Given the description of an element on the screen output the (x, y) to click on. 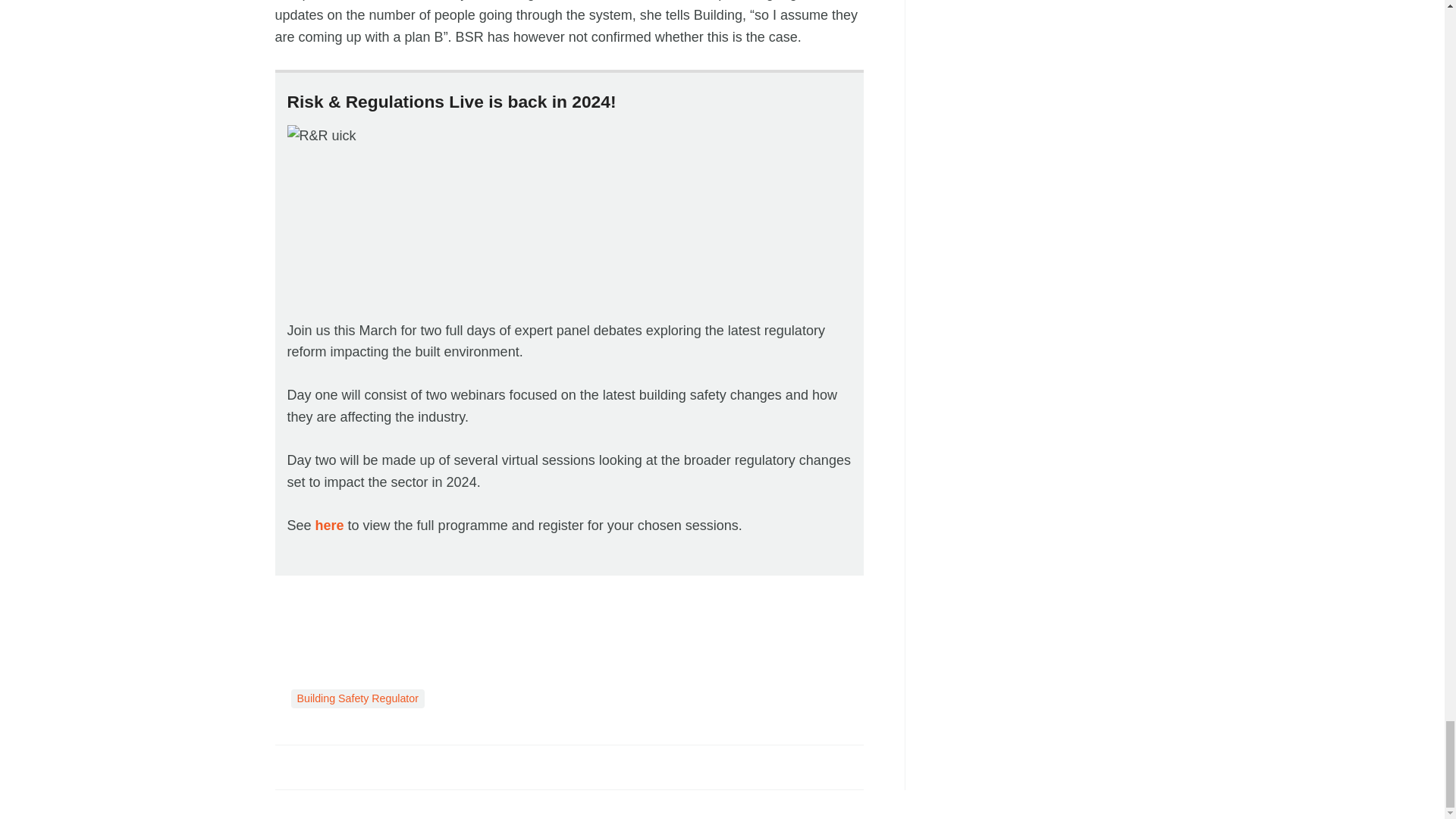
No comments (840, 775)
Share this on Twitter (320, 766)
Share this on Linked in (352, 766)
Share this on Facebook (288, 766)
Email this article (386, 766)
